Given the description of an element on the screen output the (x, y) to click on. 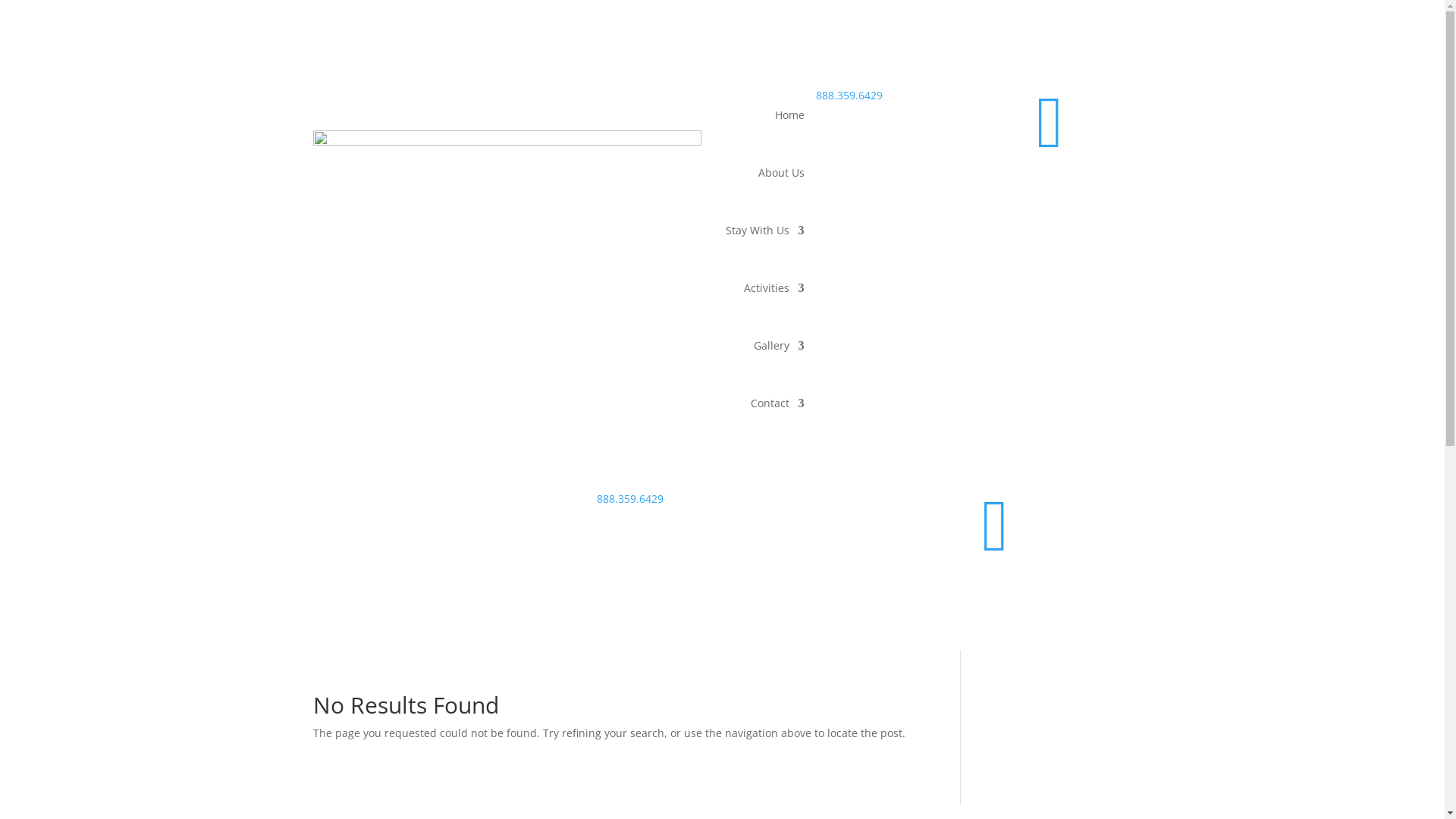
Contact Element type: text (777, 403)
Activities Element type: text (773, 287)
888.359.6429 Element type: text (848, 94)
Home Element type: text (789, 115)
Stay With Us Element type: text (763, 230)
About Us Element type: text (781, 172)
Gallery Element type: text (778, 345)
888.359.6429 Element type: text (629, 498)
